Given the description of an element on the screen output the (x, y) to click on. 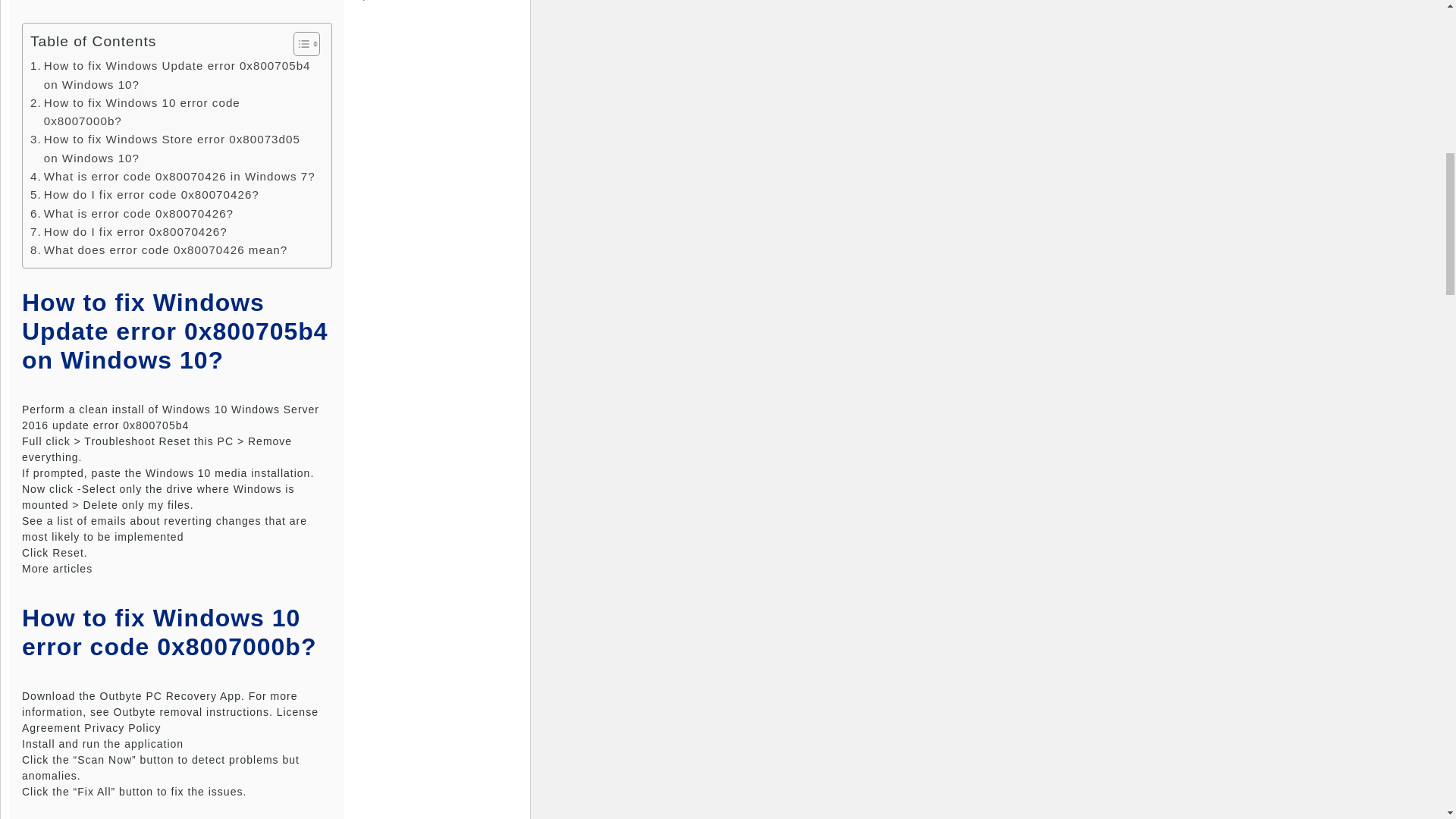
What does error code 0x80070426 mean? (158, 249)
How do I fix error 0x80070426? (128, 231)
How to fix Windows 10 error code 0x8007000b? (172, 112)
How do I fix error 0x80070426? (128, 231)
How do I fix error code 0x80070426? (144, 194)
What does error code 0x80070426 mean? (158, 249)
What is error code 0x80070426? (131, 213)
What is error code 0x80070426? (131, 213)
What is error code 0x80070426 in Windows 7? (172, 176)
What is error code 0x80070426 in Windows 7? (172, 176)
How to fix Windows Update error 0x800705b4 on Windows 10? (172, 75)
How to fix Windows Store error 0x80073d05 on Windows 10? (172, 148)
How to fix Windows Update error 0x800705b4 on Windows 10? (172, 75)
How to fix Windows Store error 0x80073d05 on Windows 10? (172, 148)
How do I fix error code 0x80070426? (144, 194)
